Given the description of an element on the screen output the (x, y) to click on. 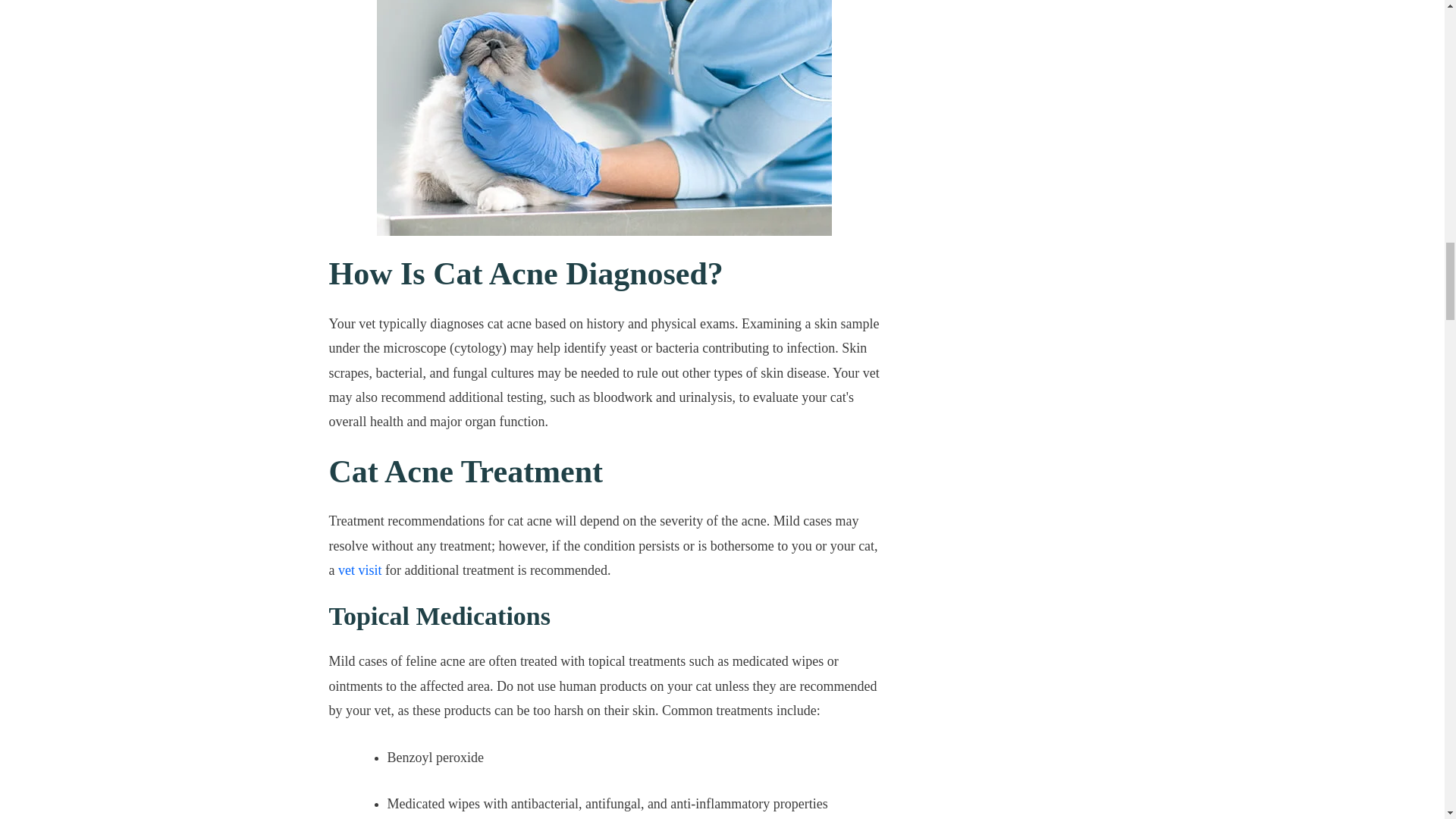
Veterinarian checking cat's face (604, 117)
